Given the description of an element on the screen output the (x, y) to click on. 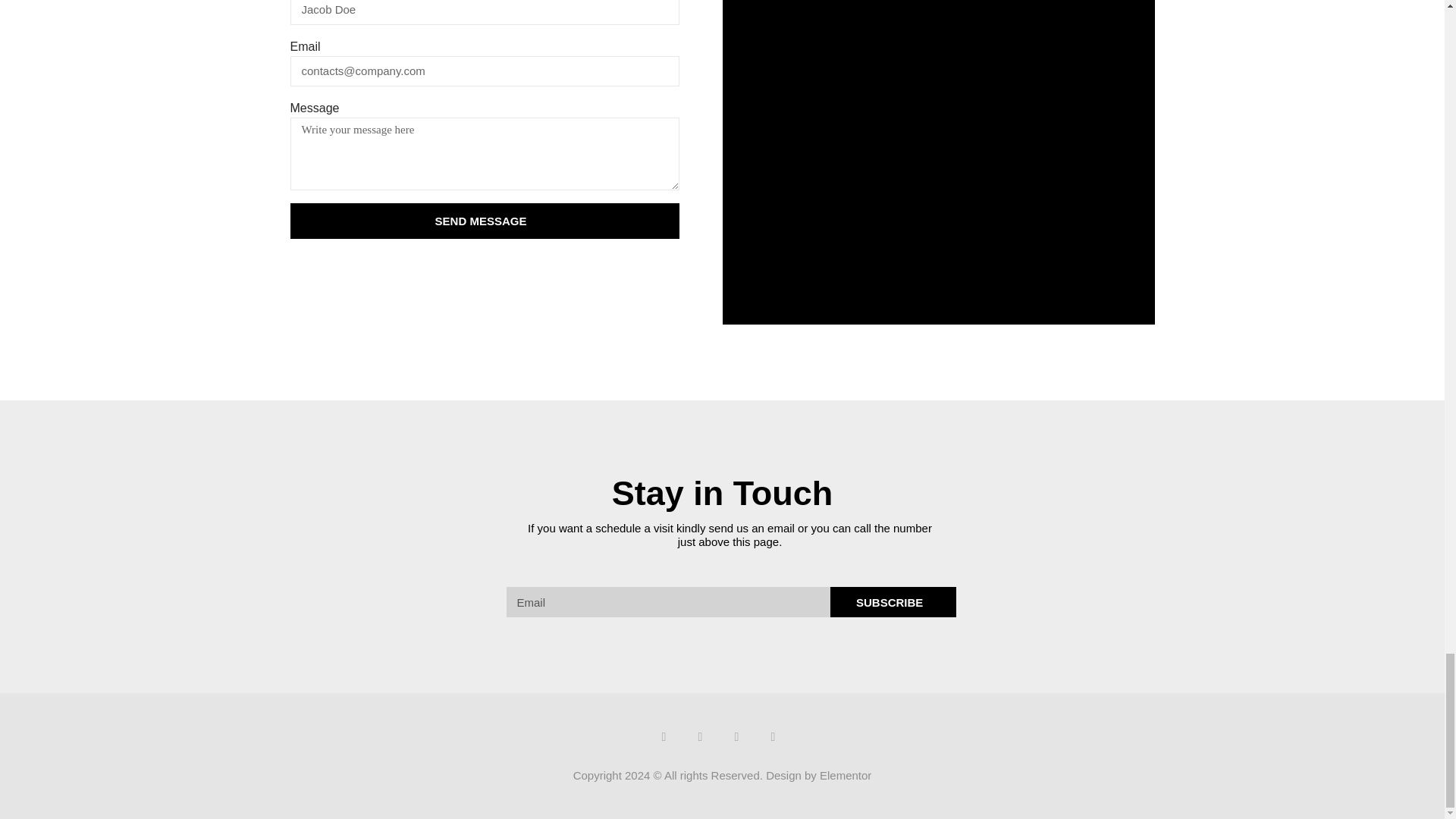
SUBSCRIBE (892, 602)
SEND MESSAGE (483, 221)
